Given the description of an element on the screen output the (x, y) to click on. 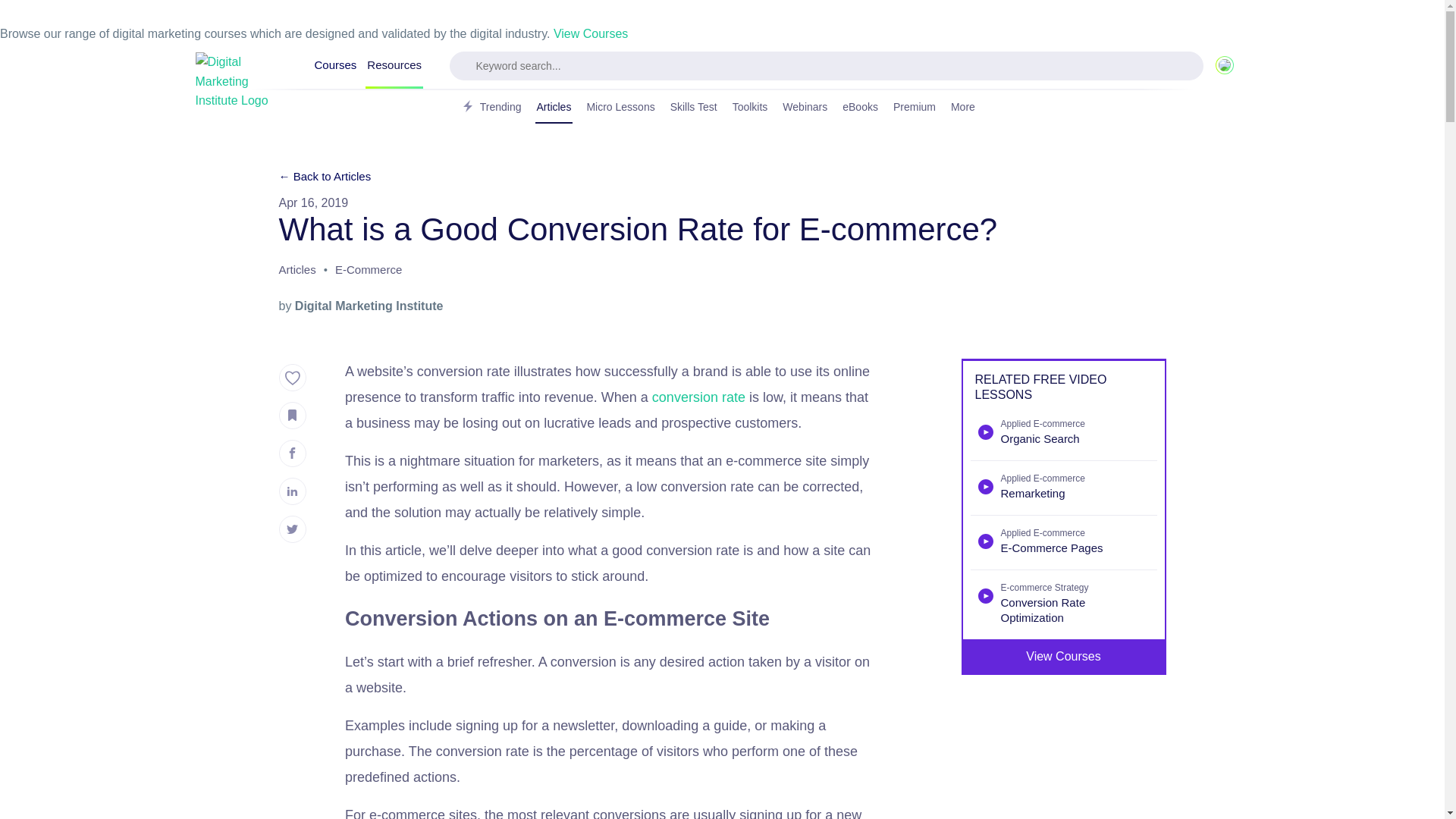
Trending (489, 107)
More (968, 107)
Articles (554, 107)
Click to share this post on Twitter (292, 528)
eBooks (860, 107)
conversion rate (698, 396)
View Courses (590, 33)
Toolkits (750, 107)
Premium (914, 107)
Webinars (804, 107)
